Given the description of an element on the screen output the (x, y) to click on. 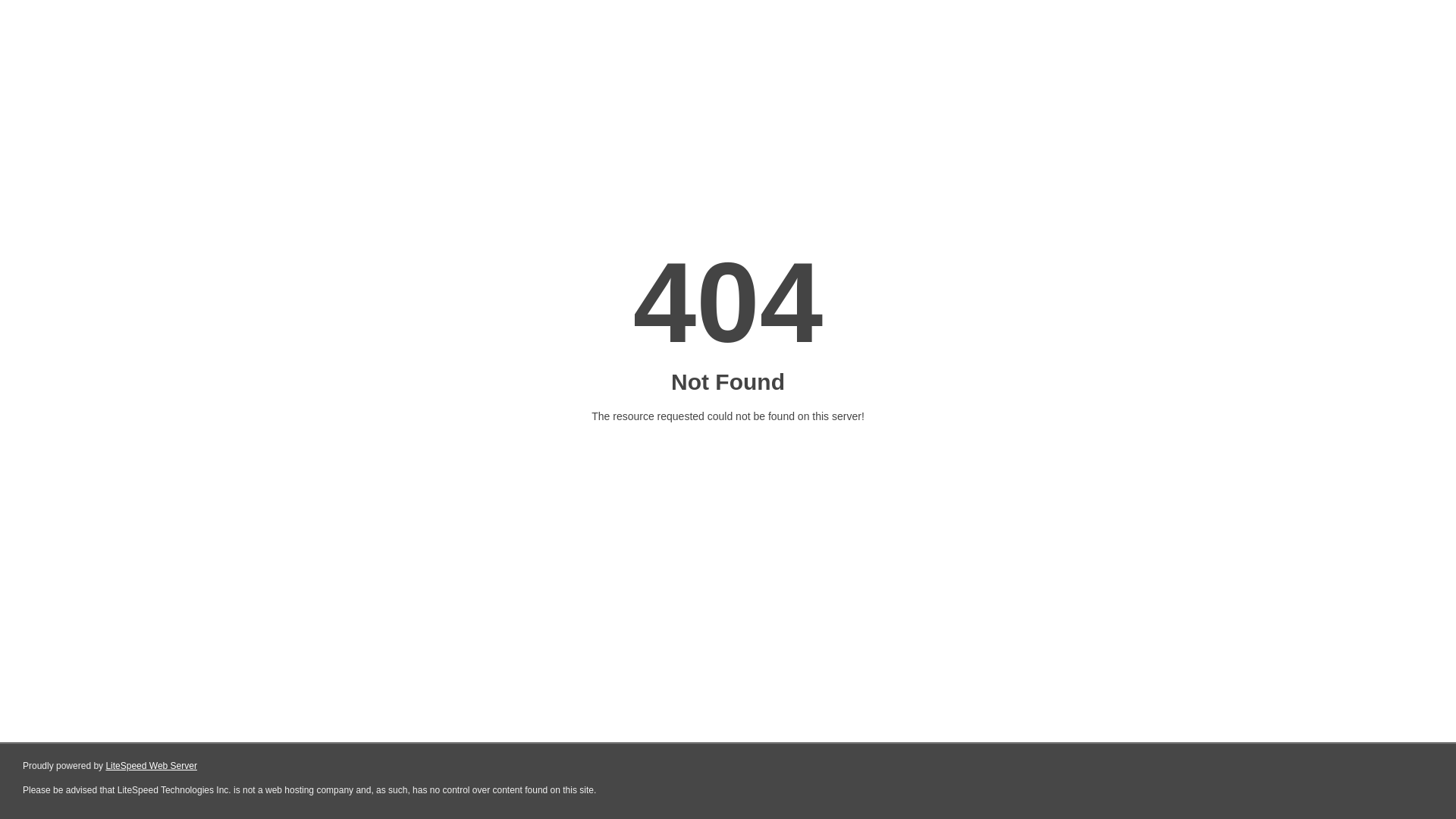
LiteSpeed Web Server Element type: text (151, 765)
